Given the description of an element on the screen output the (x, y) to click on. 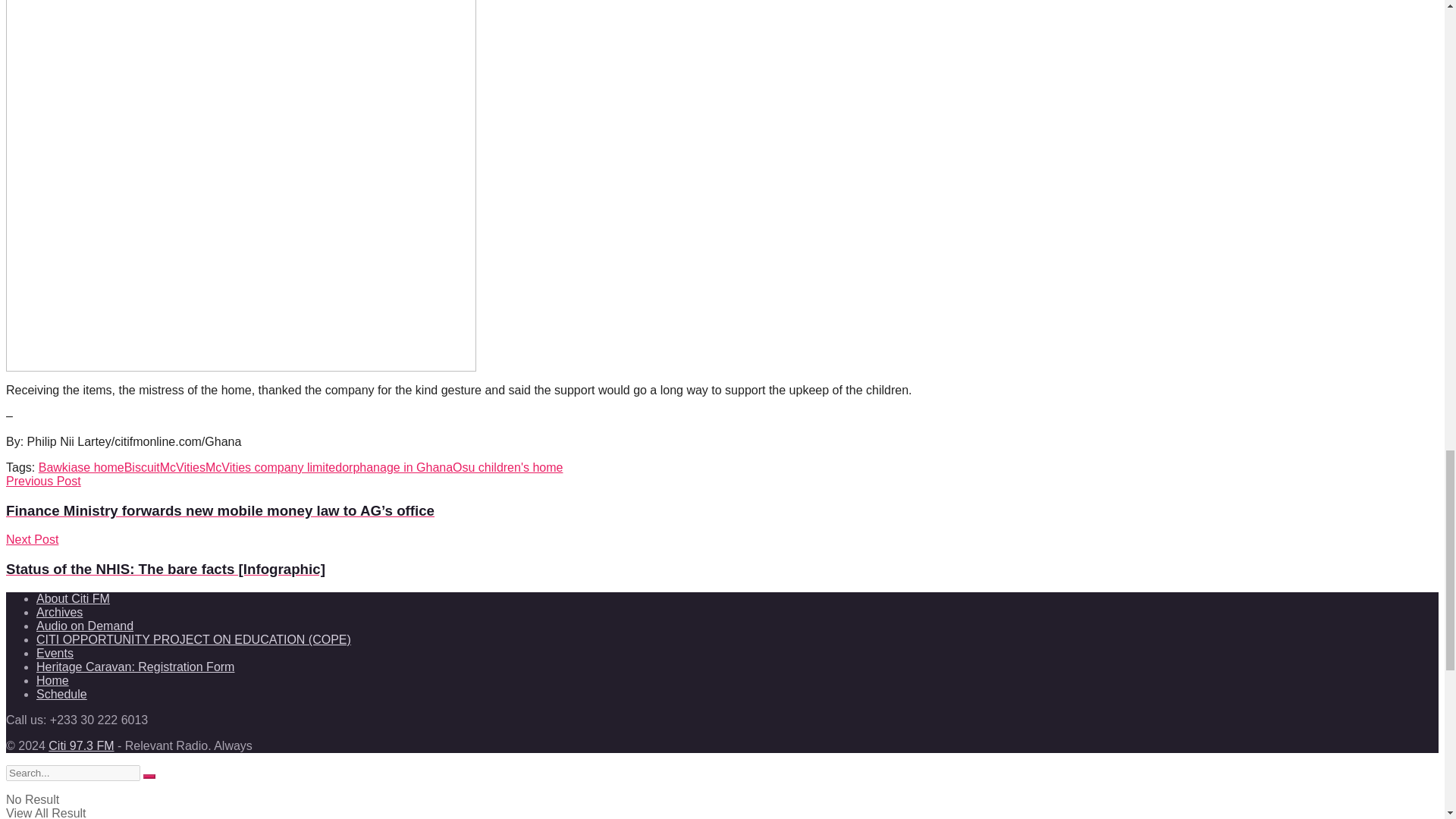
Biscuit (141, 467)
Citi 97.3 FM (80, 745)
McVities company limited (273, 467)
Bawkiase home (81, 467)
McVities (182, 467)
